Given the description of an element on the screen output the (x, y) to click on. 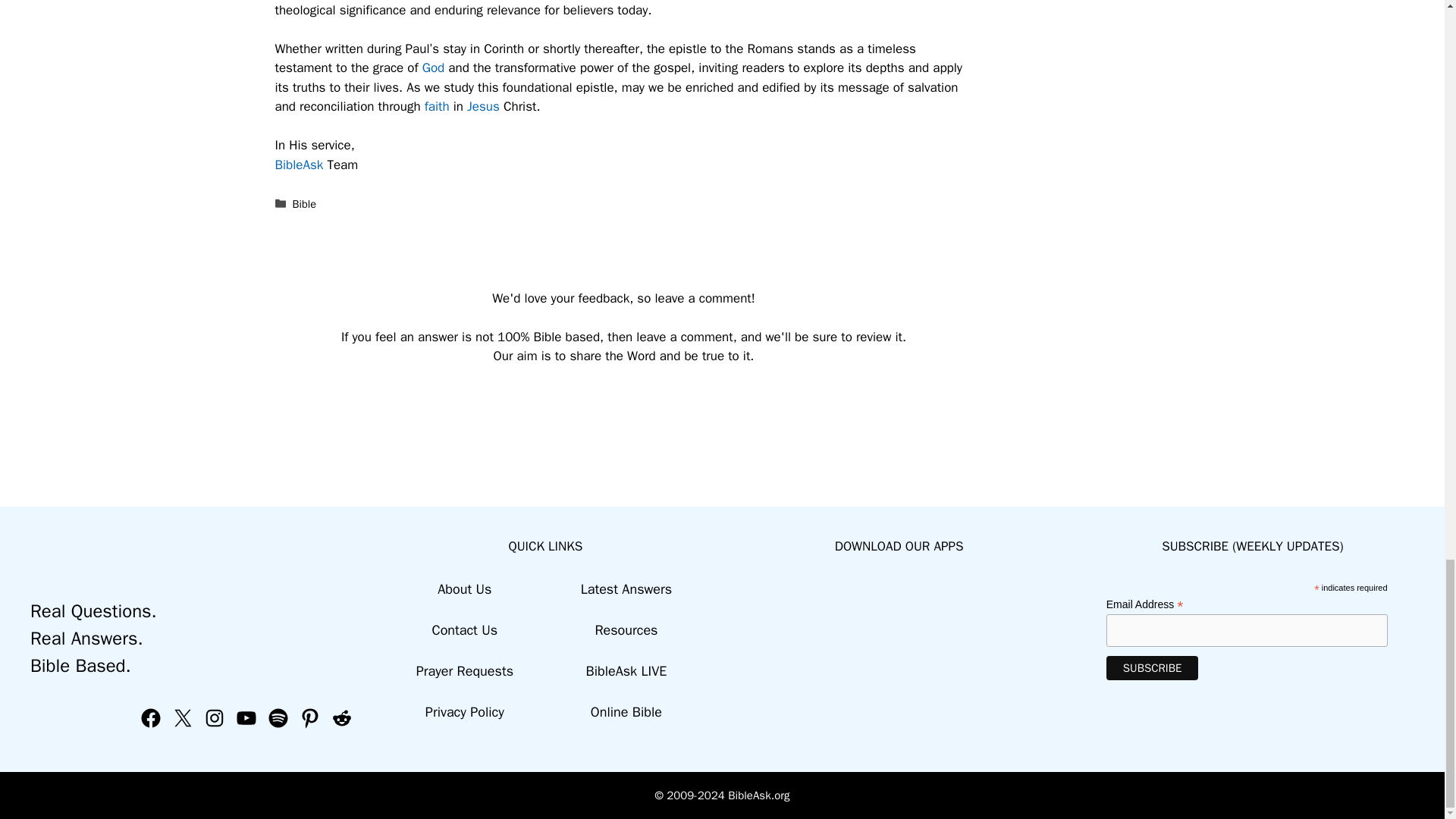
faith (437, 106)
Jesus (483, 106)
Subscribe (1152, 668)
BibleAsk (299, 164)
God (433, 67)
